Given the description of an element on the screen output the (x, y) to click on. 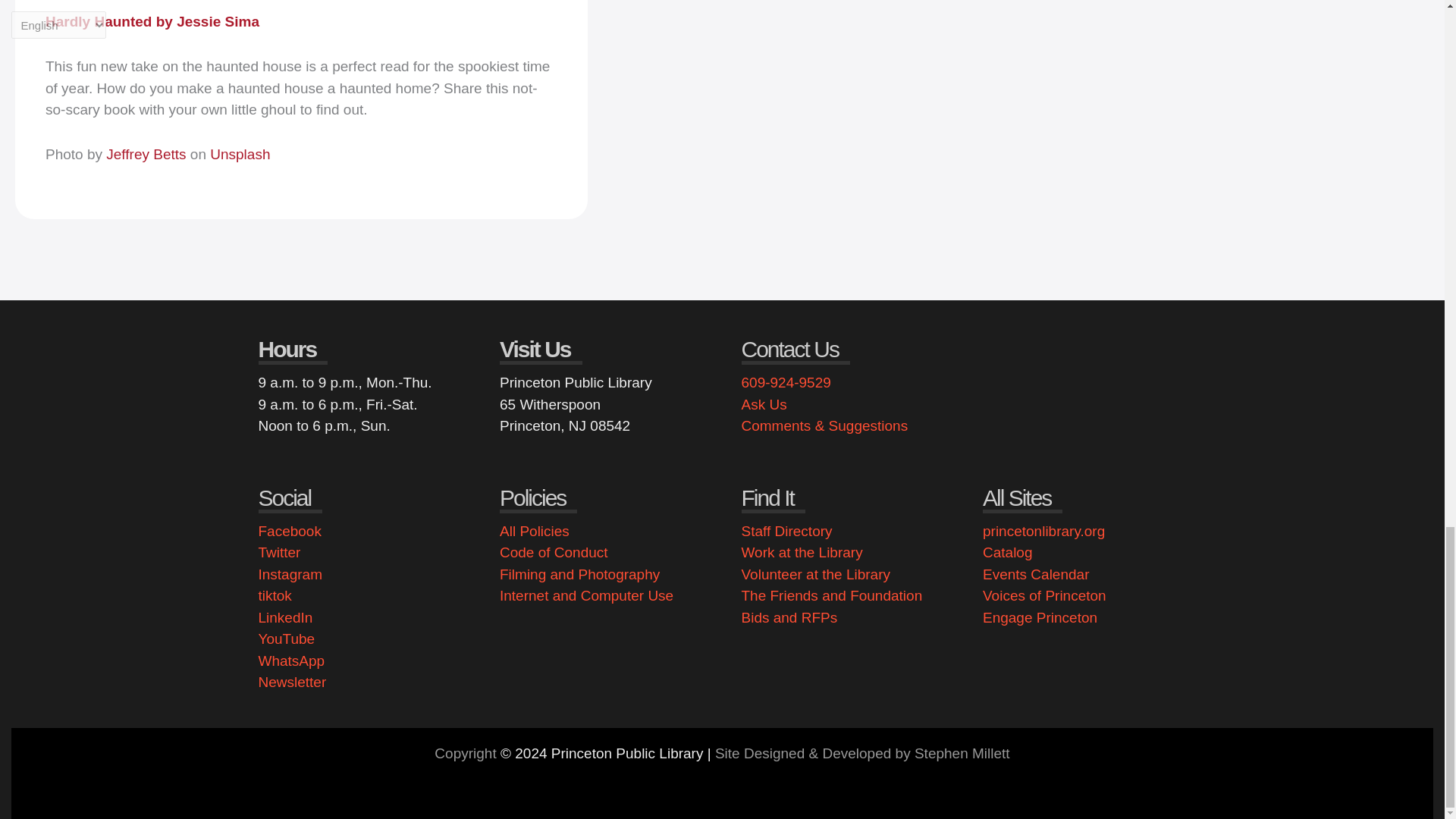
Hardly Haunted by Jessie Sima (152, 21)
Jeffrey Betts (146, 154)
Unsplash (239, 154)
